Given the description of an element on the screen output the (x, y) to click on. 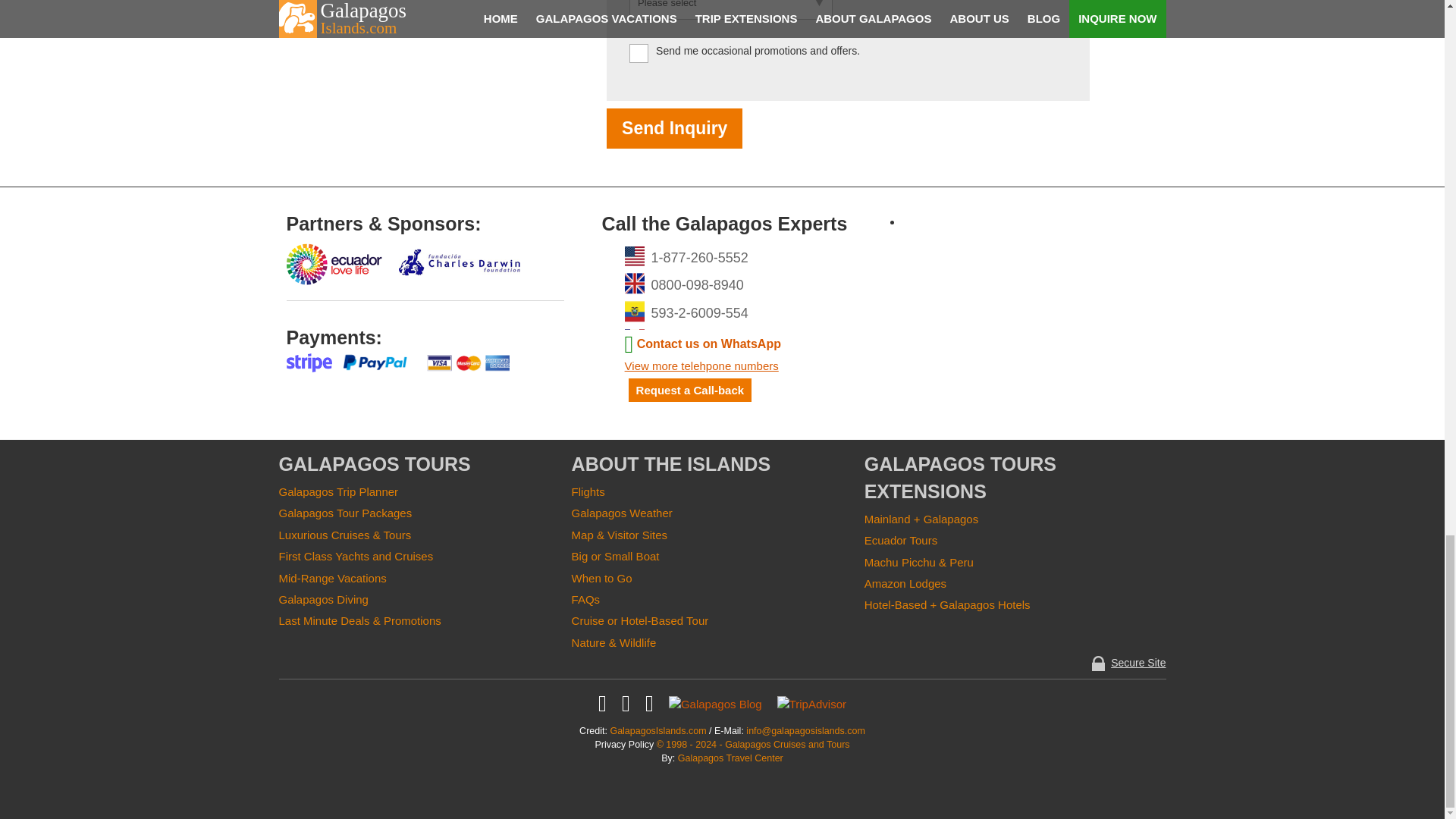
TripAdvisor (811, 702)
Galapagos Blog (714, 702)
